Given the description of an element on the screen output the (x, y) to click on. 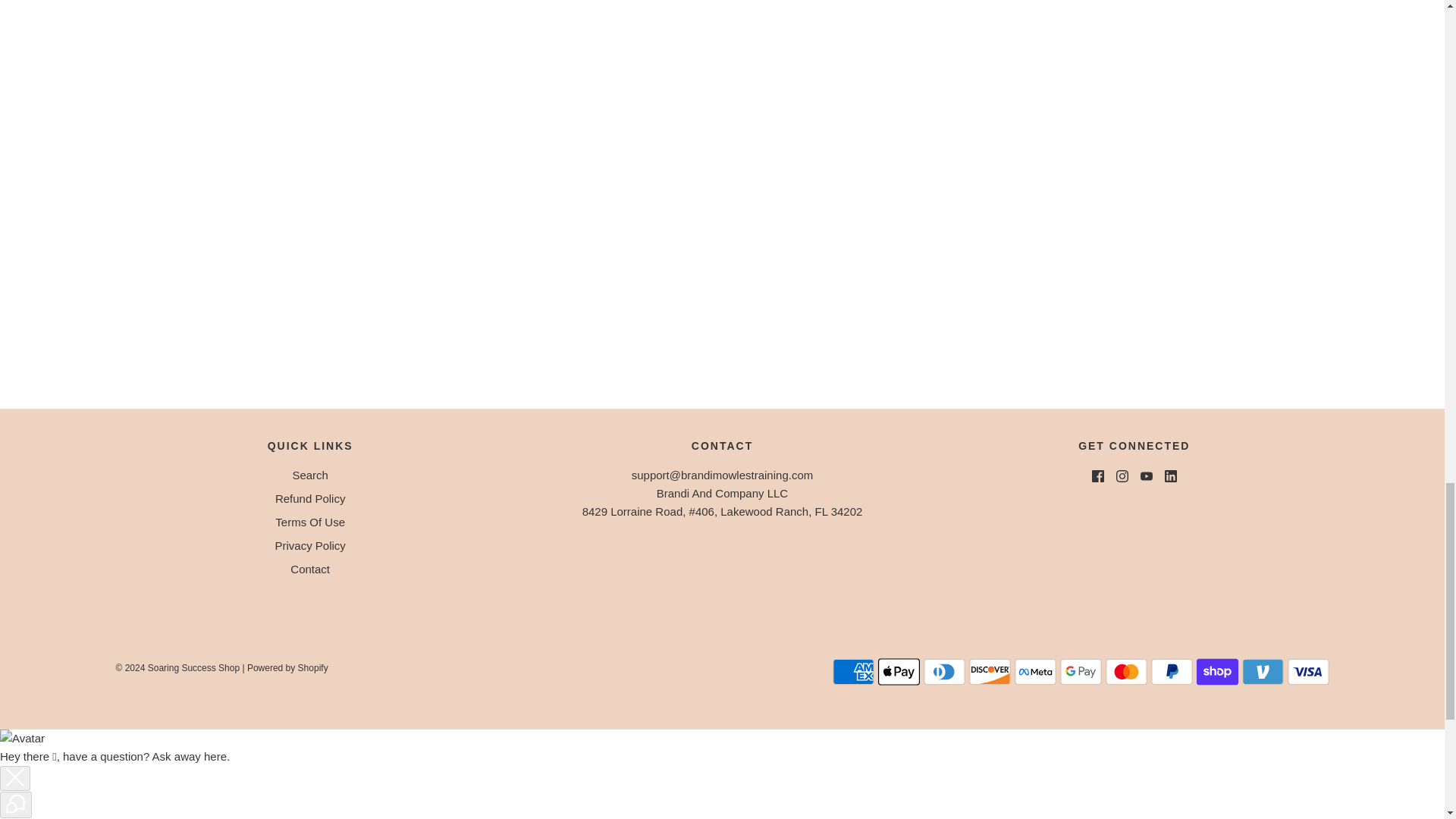
YouTube icon (1146, 476)
Instagram icon (1122, 476)
LinkedIn icon (1170, 476)
Apple Pay (898, 671)
Google Pay (1080, 671)
Diners Club (944, 671)
Meta Pay (1035, 671)
Discover (989, 671)
American Express (853, 671)
Facebook icon (1097, 476)
